Given the description of an element on the screen output the (x, y) to click on. 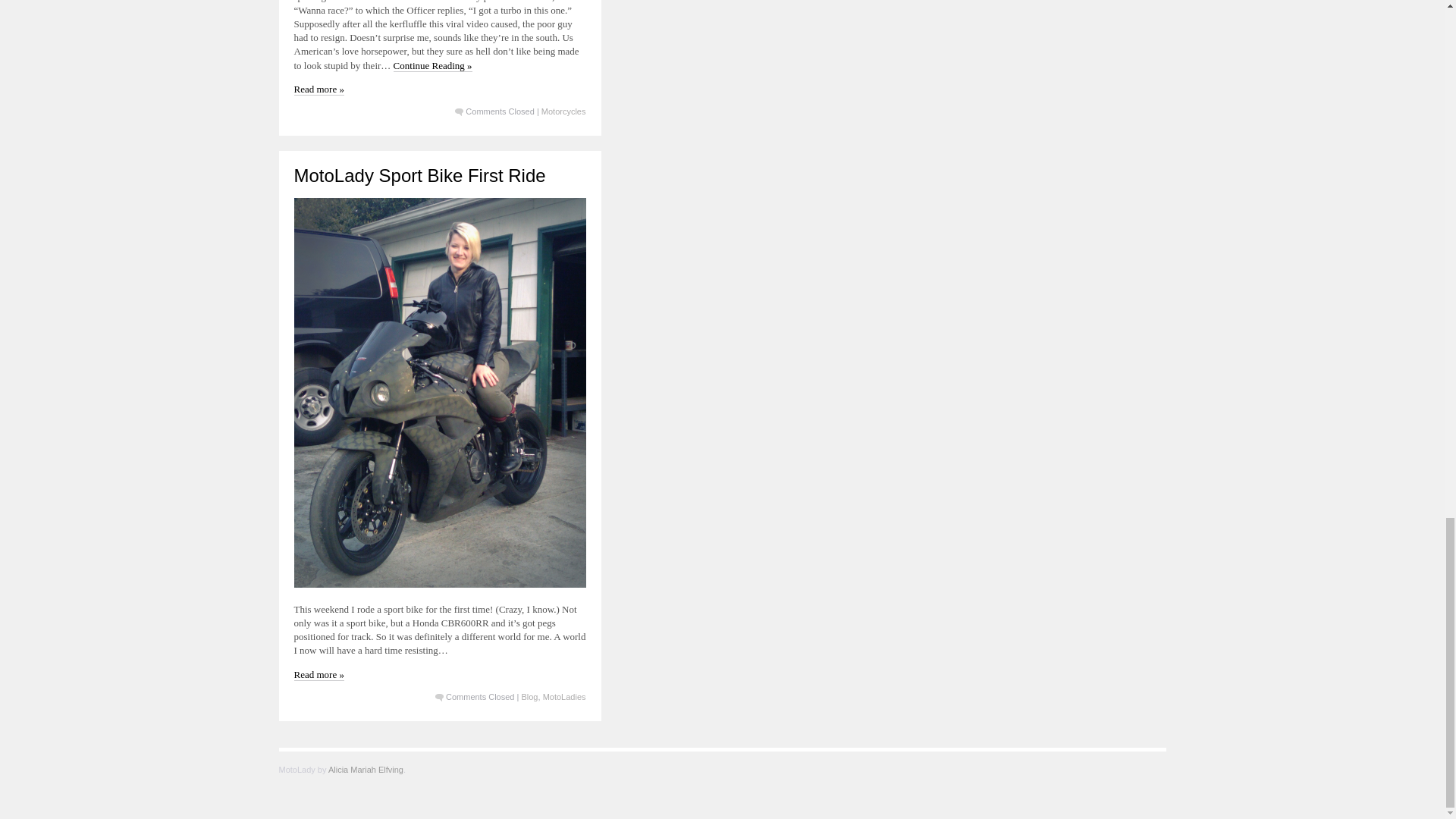
MotoLady Sport Bike First Ride (420, 175)
Blog (529, 696)
MotoLady Sport Bike First Ride (420, 175)
Motorcycles (563, 111)
MotoLadies (564, 696)
